Given the description of an element on the screen output the (x, y) to click on. 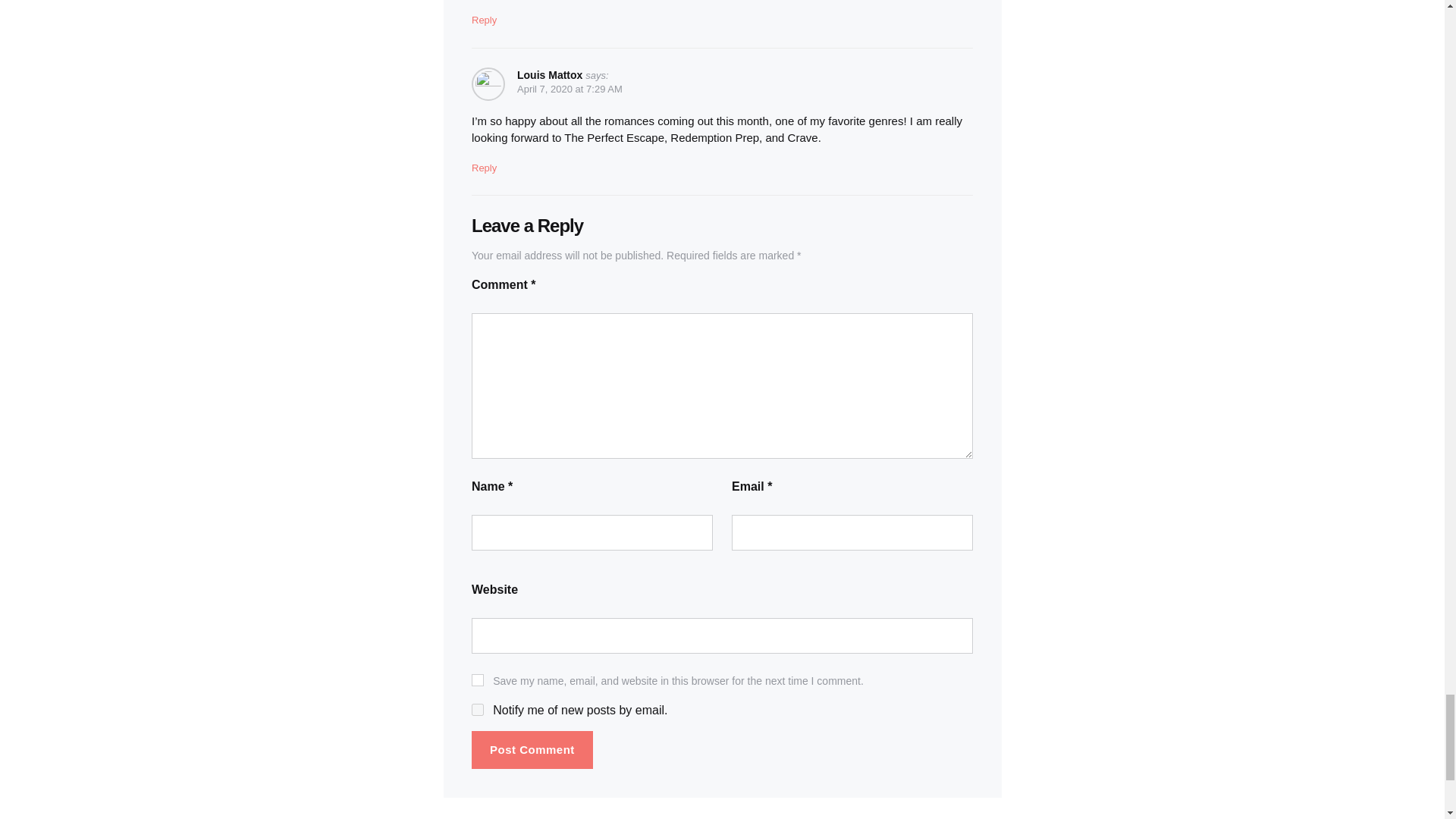
subscribe (477, 709)
Post Comment (531, 750)
yes (477, 680)
